Given the description of an element on the screen output the (x, y) to click on. 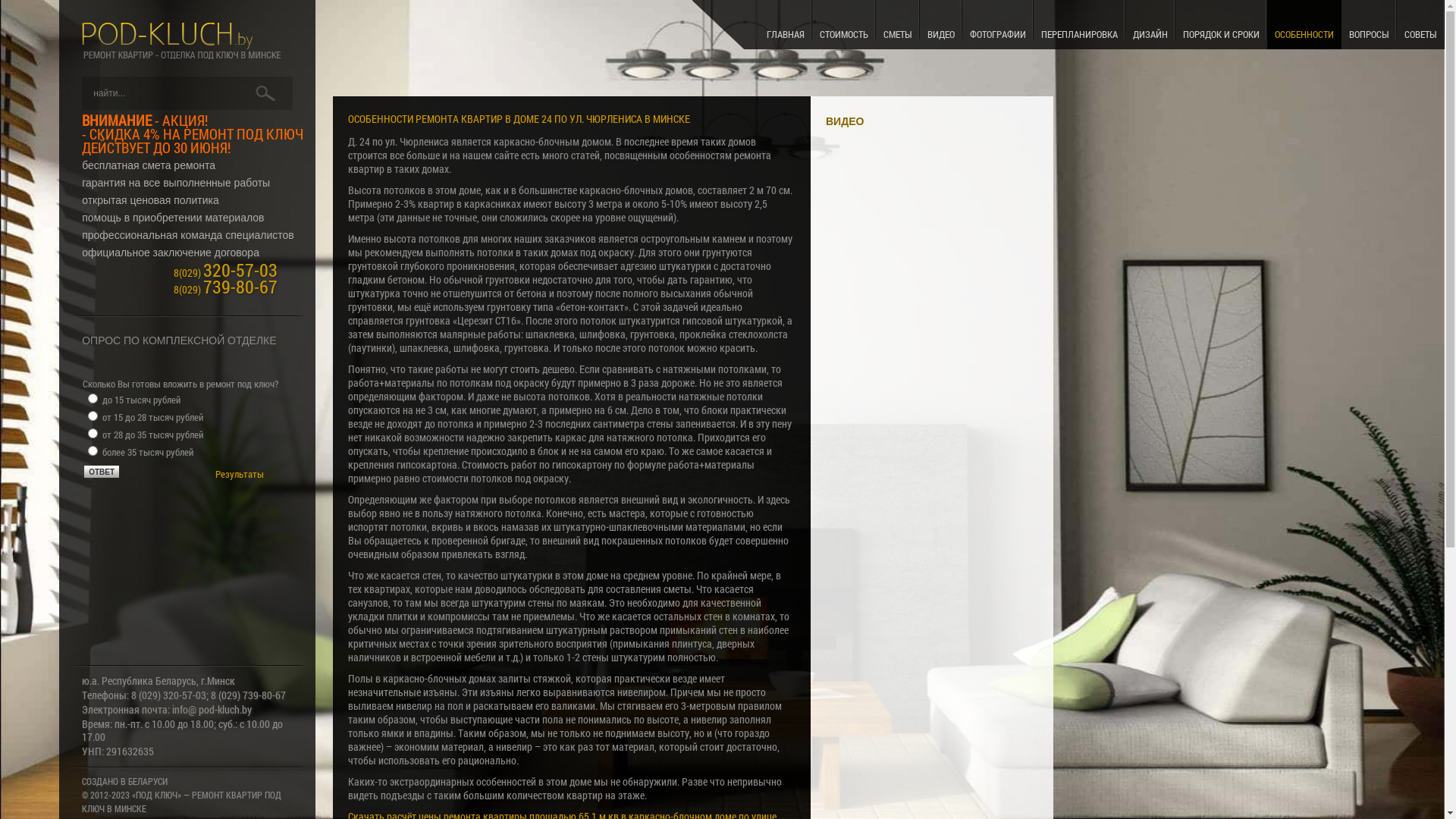
8(029) 739-80-67 Element type: text (225, 289)
8(029) 320-57-03 Element type: text (225, 272)
